Given the description of an element on the screen output the (x, y) to click on. 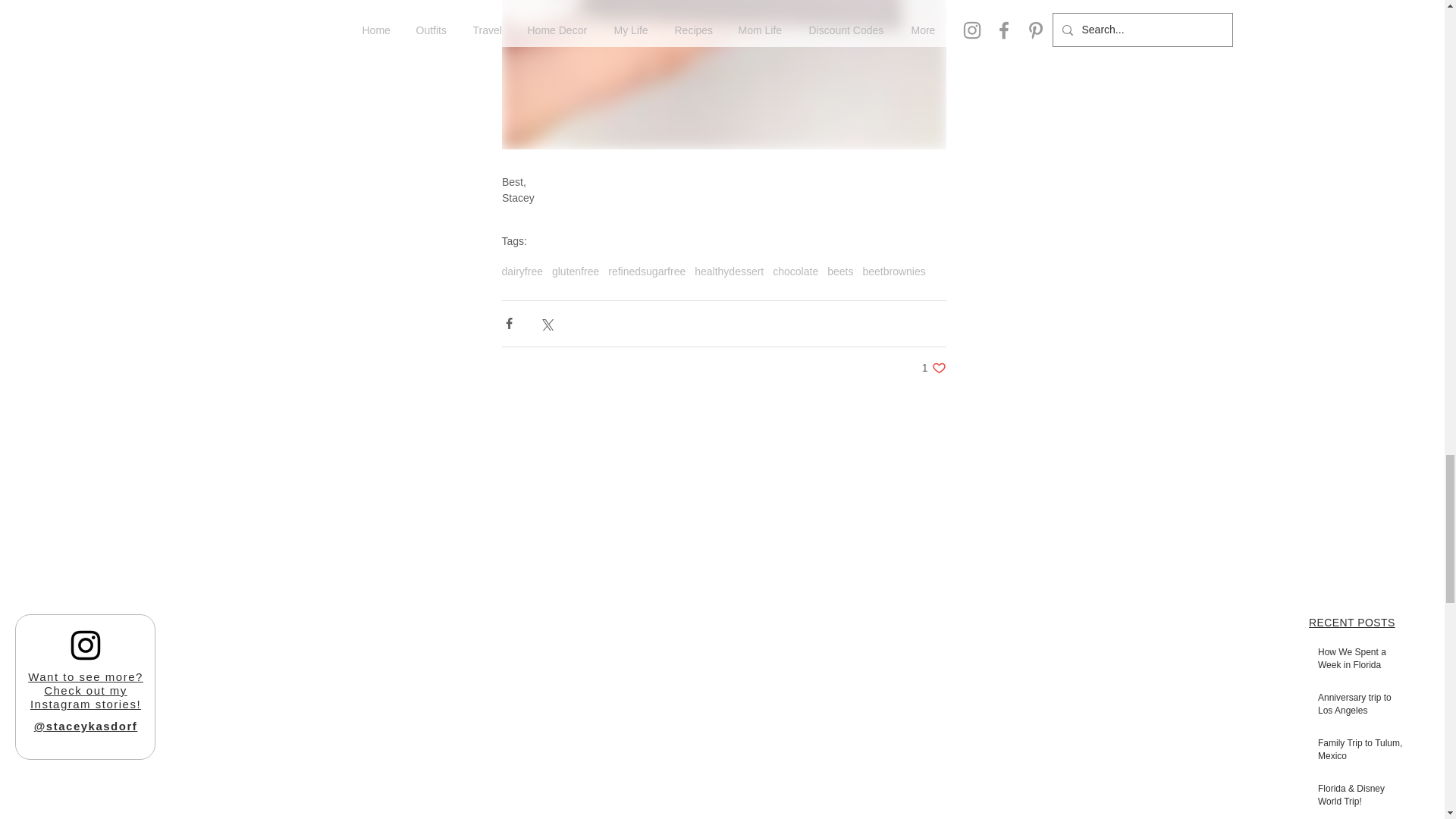
chocolate (795, 271)
beetbrownies (892, 271)
refinedsugarfree (646, 271)
dairyfree (522, 271)
beets (840, 271)
glutenfree (574, 271)
healthydessert (728, 271)
